Given the description of an element on the screen output the (x, y) to click on. 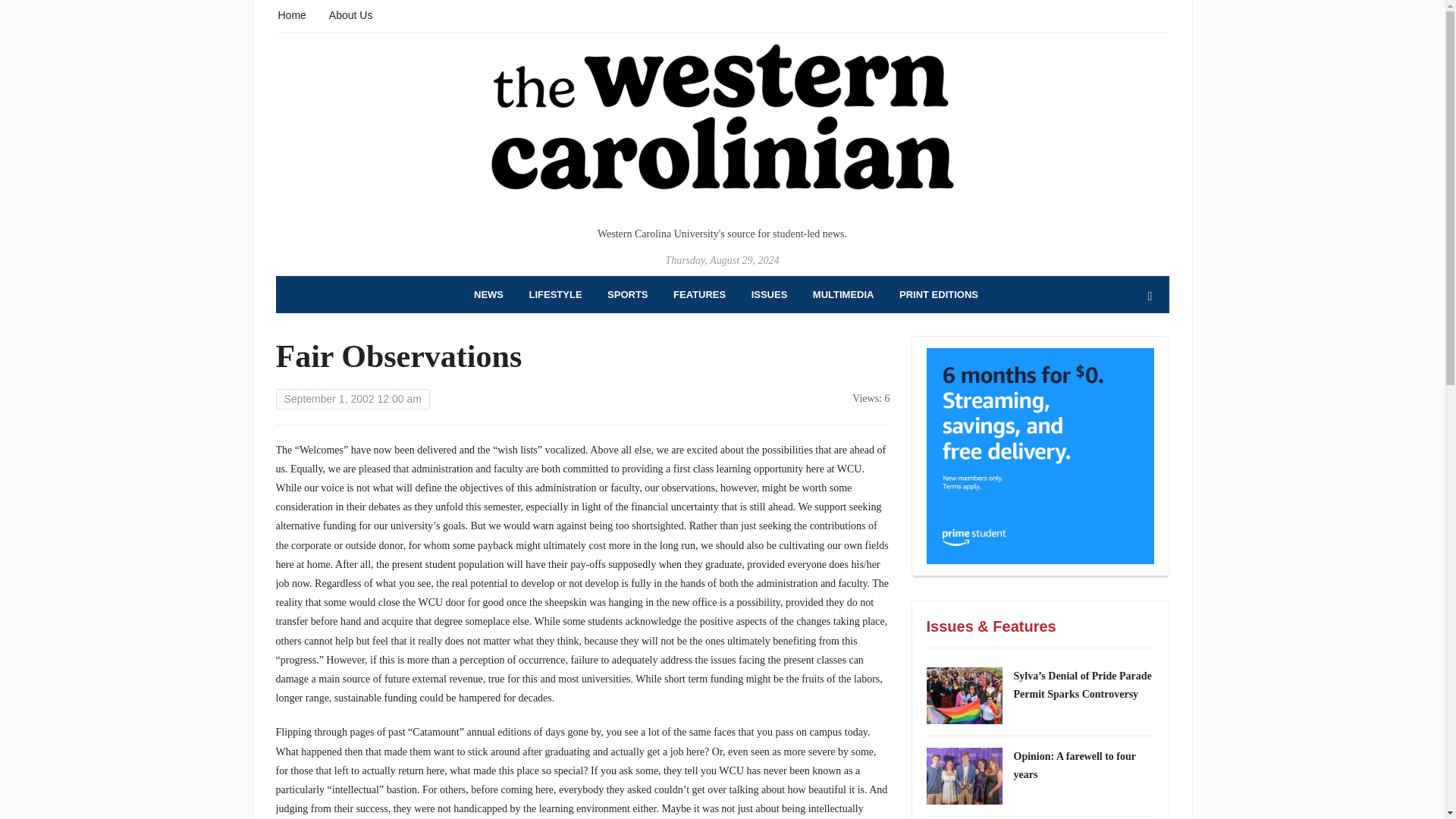
About Us (350, 14)
ISSUES (769, 294)
FEATURES (698, 294)
LIFESTYLE (555, 294)
MULTIMEDIA (843, 294)
NEWS (488, 294)
SPORTS (627, 294)
Opinion: A farewell to four years (1074, 765)
PRINT EDITIONS (938, 294)
Search (1149, 296)
